Given the description of an element on the screen output the (x, y) to click on. 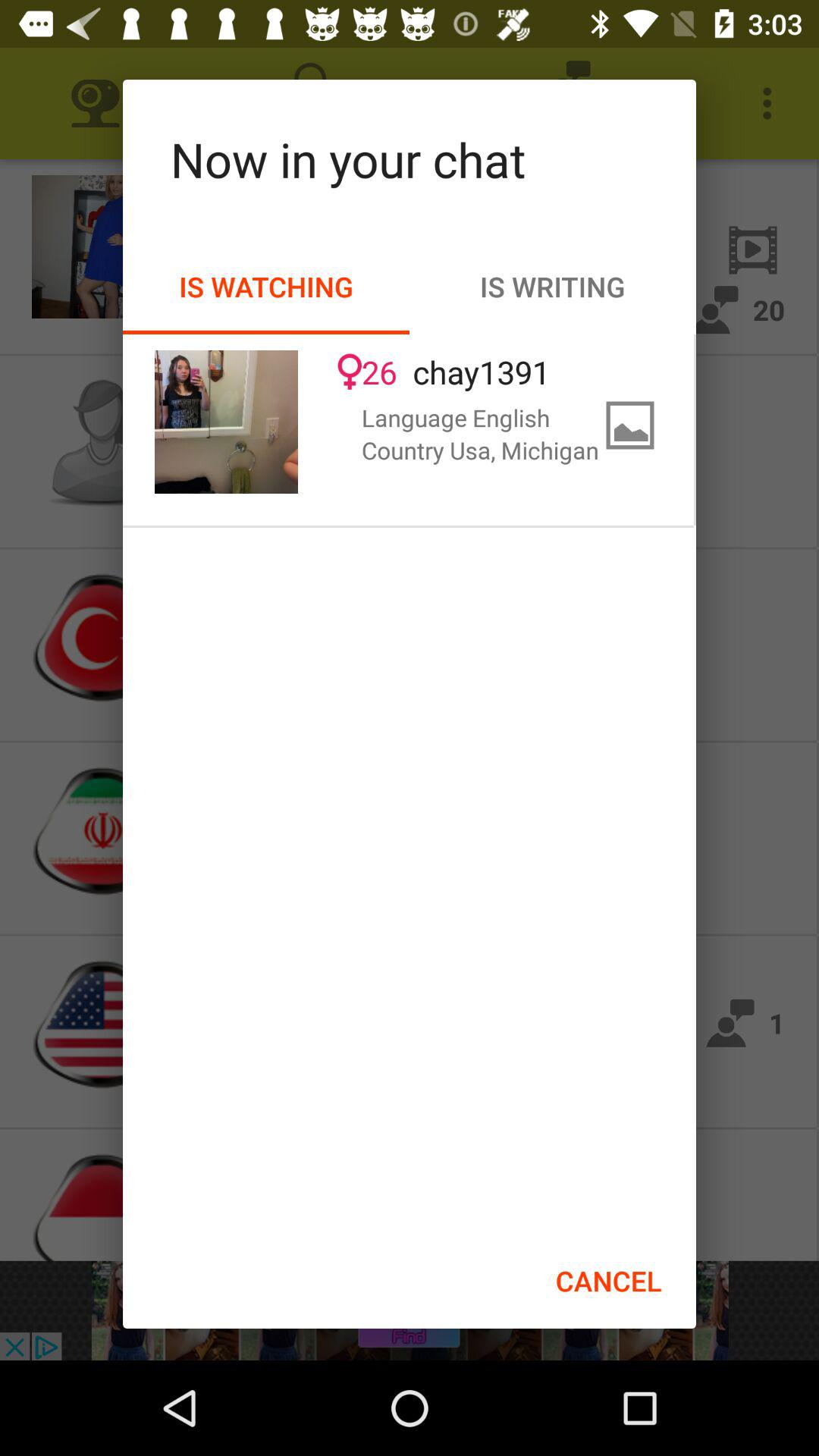
select profile (226, 421)
